Given the description of an element on the screen output the (x, y) to click on. 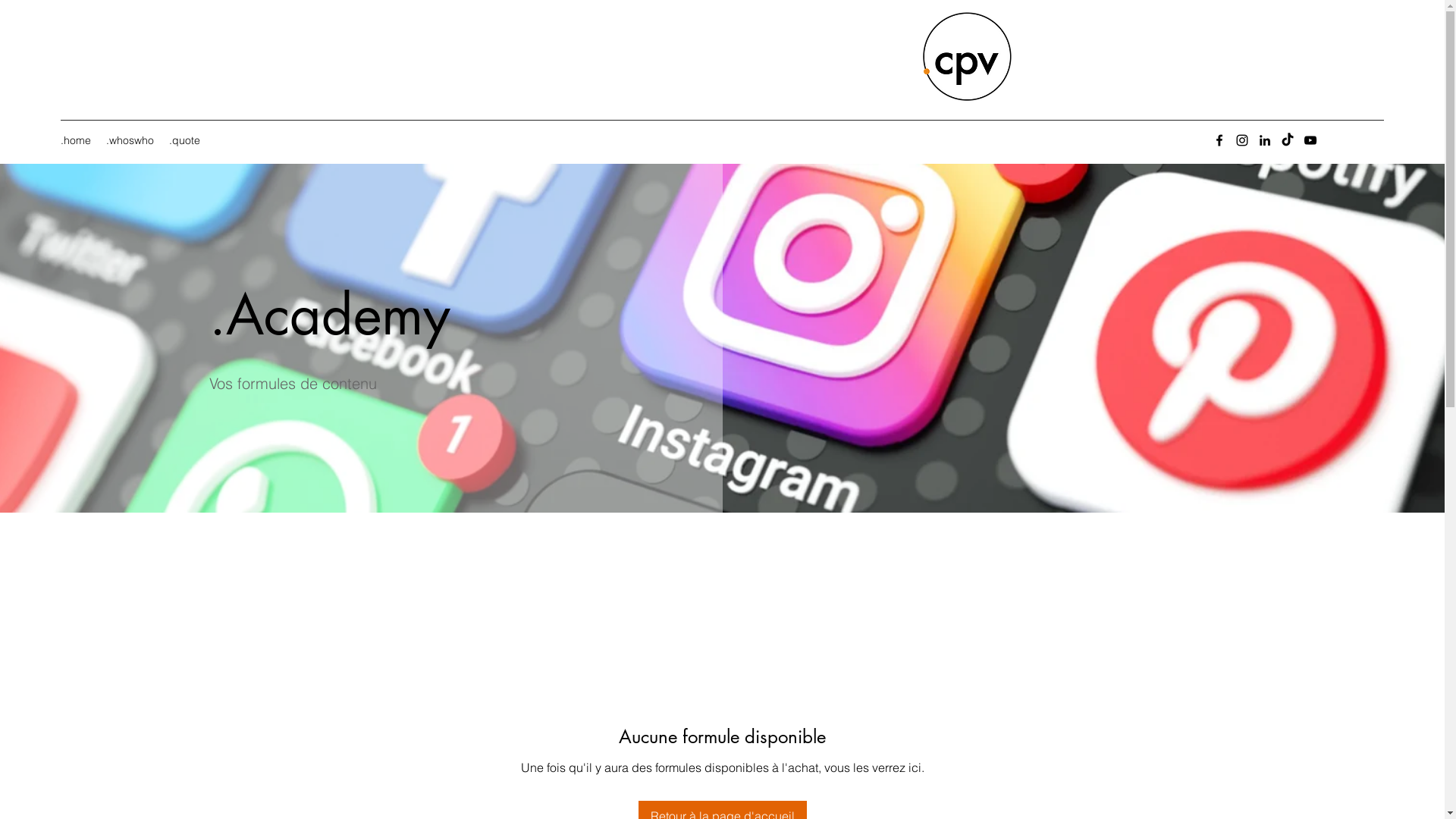
.quote Element type: text (184, 139)
.home Element type: text (75, 139)
.whoswho Element type: text (129, 139)
